Given the description of an element on the screen output the (x, y) to click on. 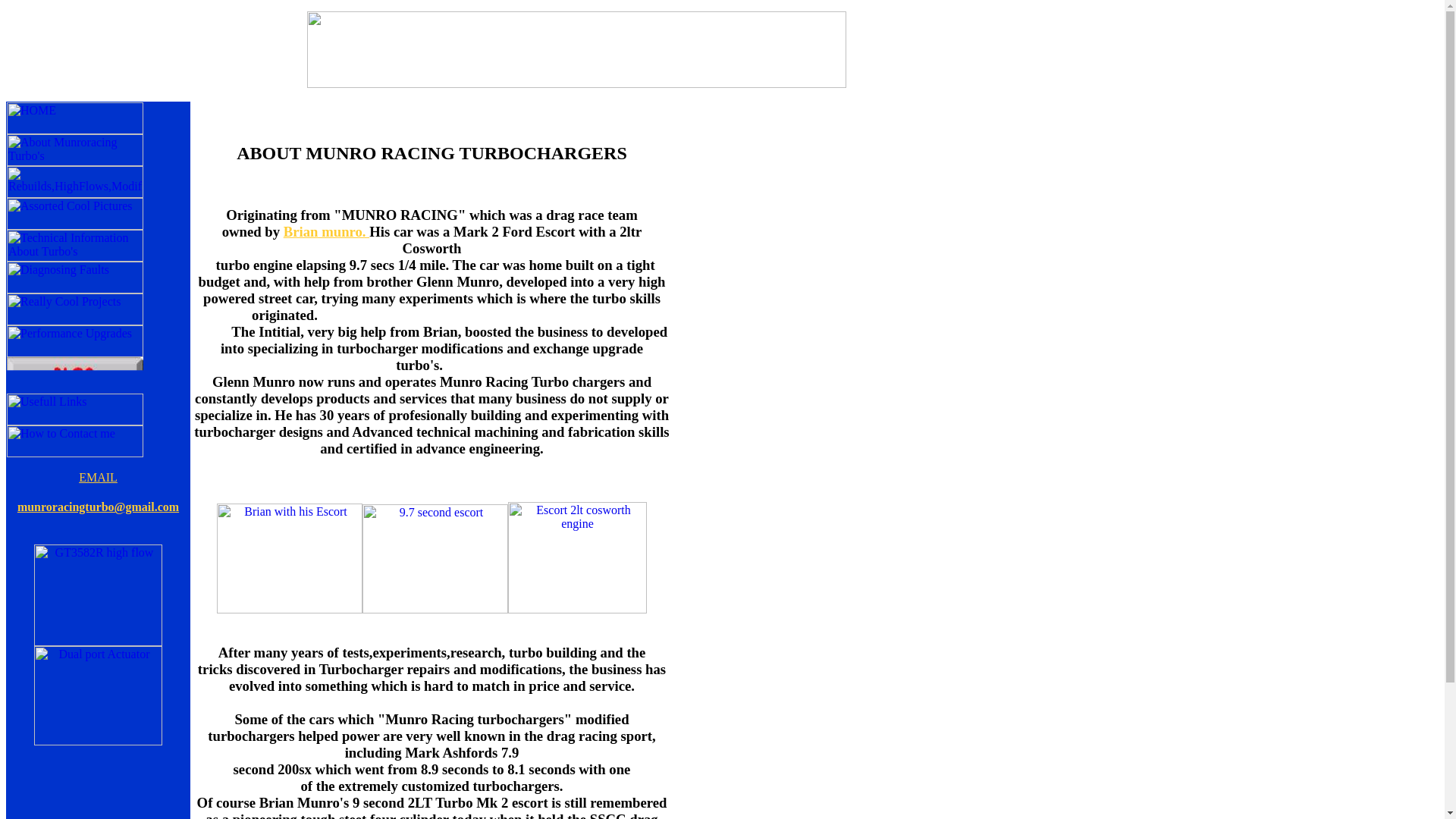
Brian munro. (326, 231)
